Given the description of an element on the screen output the (x, y) to click on. 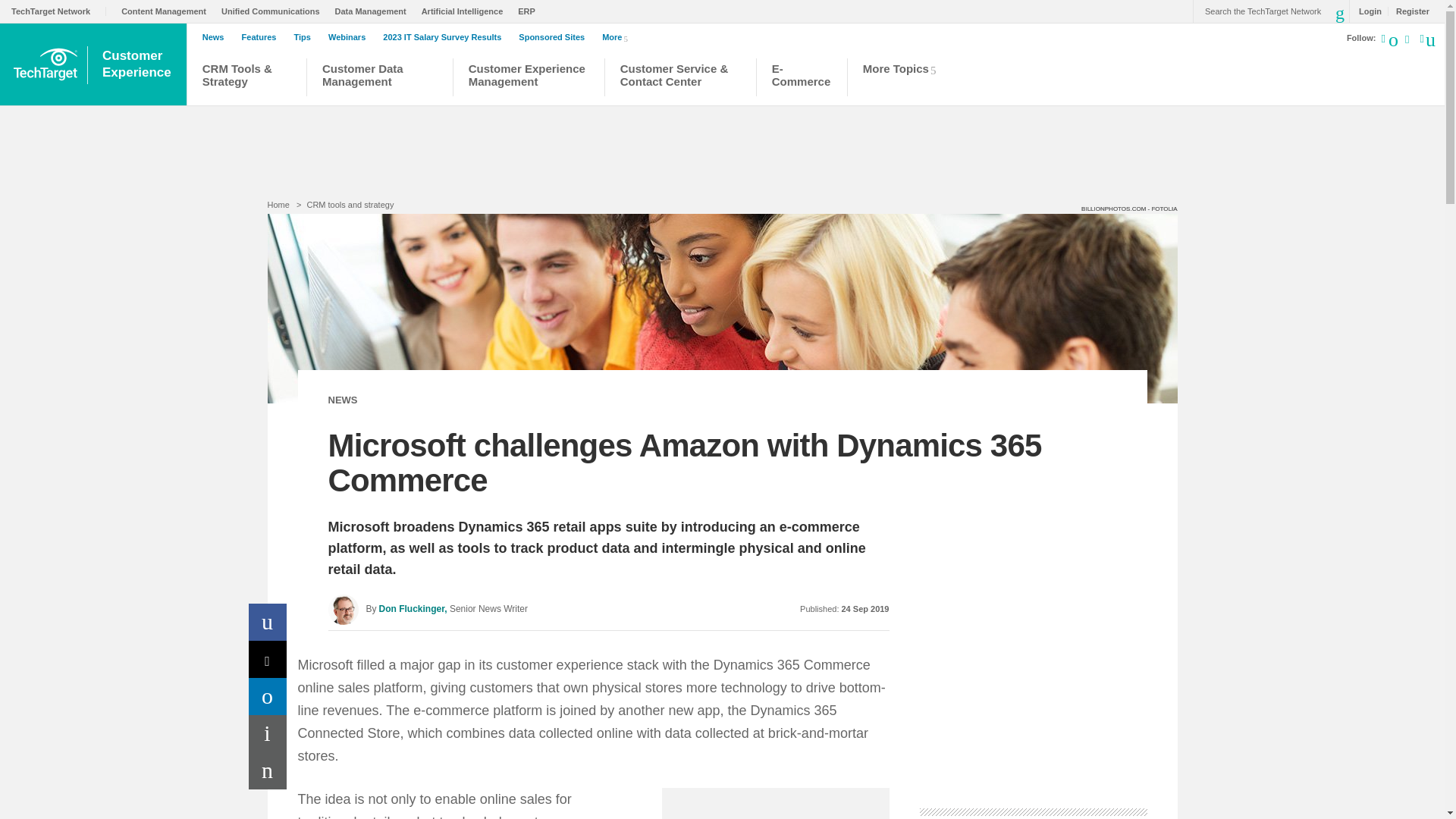
Unified Communications (274, 10)
Sponsored Sites (555, 36)
Data Management (373, 10)
Share on X (267, 659)
Print This Page (267, 733)
Register (1408, 10)
More Topics (903, 79)
Artificial Intelligence (466, 10)
E-Commerce (801, 79)
Features (262, 36)
Content Management (167, 10)
News (216, 36)
More (617, 36)
Follow Eye on Tech on TikTok (1414, 40)
Share on LinkedIn (267, 696)
